Given the description of an element on the screen output the (x, y) to click on. 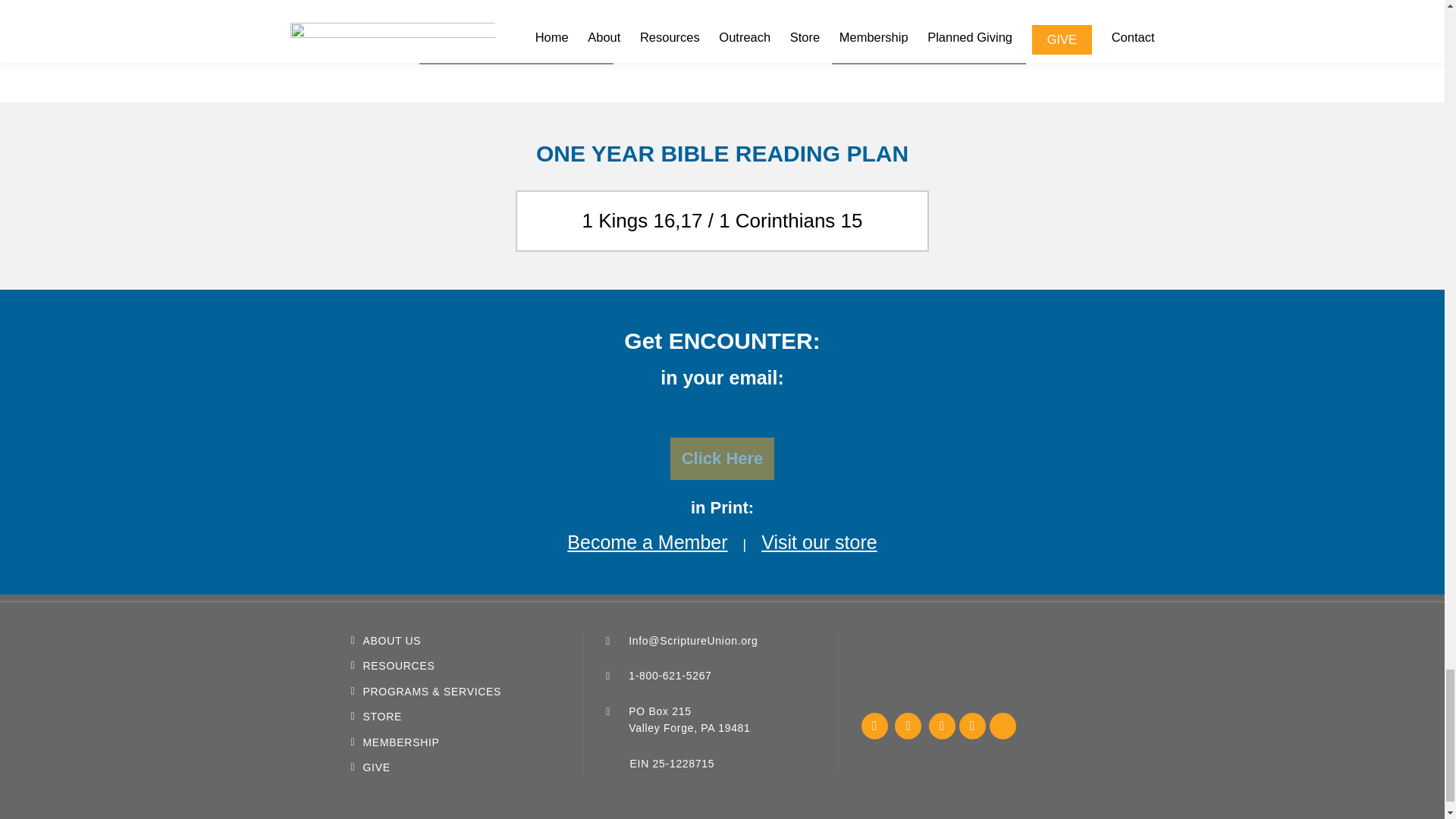
View all readings (721, 21)
ECFA Logo (897, 668)
